Given the description of an element on the screen output the (x, y) to click on. 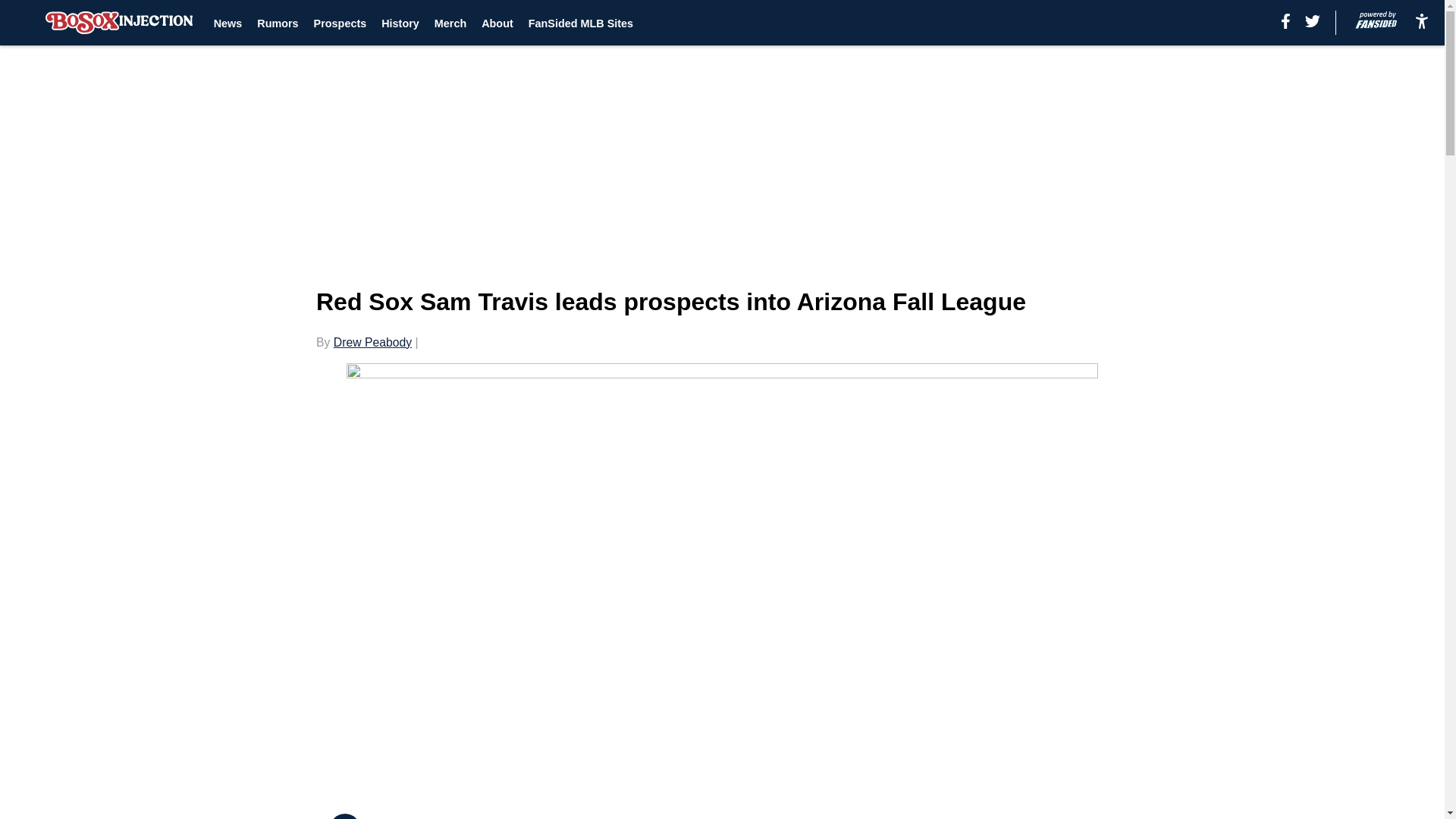
Rumors (277, 23)
FanSided MLB Sites (580, 23)
News (228, 23)
History (400, 23)
Drew Peabody (372, 341)
About (497, 23)
Prospects (340, 23)
Merch (449, 23)
